Given the description of an element on the screen output the (x, y) to click on. 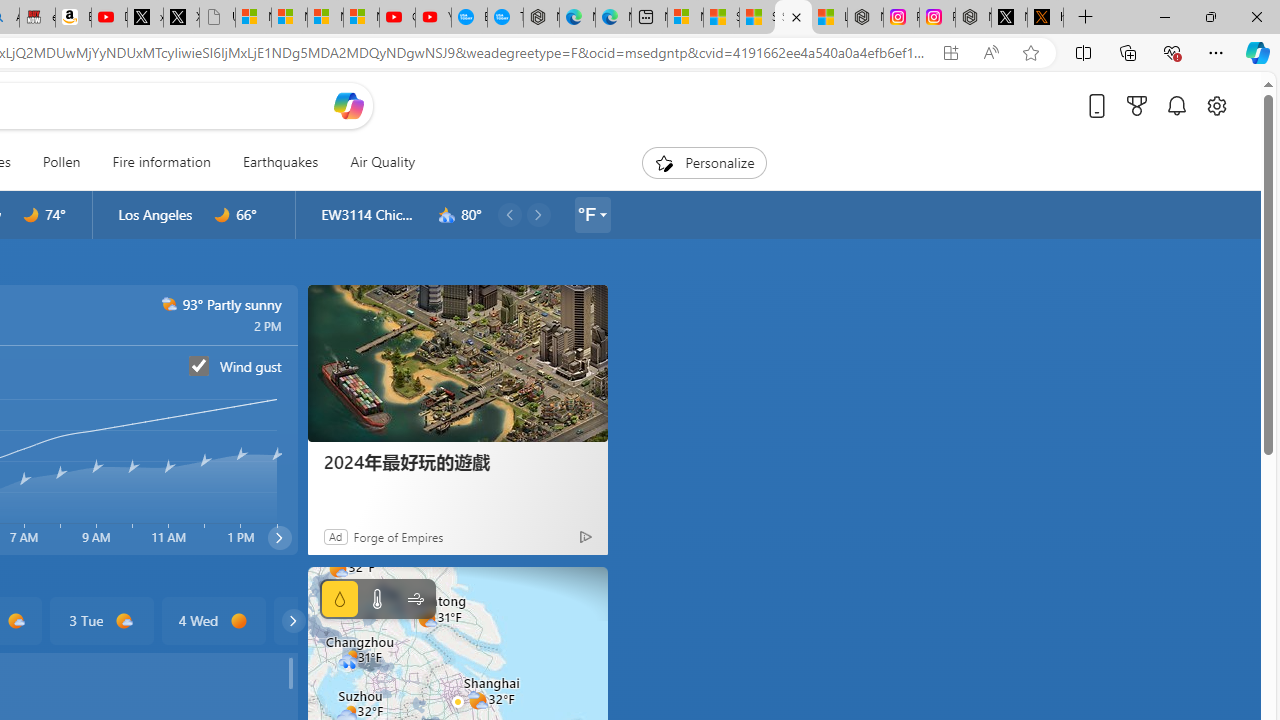
The most popular Google 'how to' searches (505, 17)
Pollen (61, 162)
5 Thu d1000 (324, 620)
Fire information (161, 162)
Gloom - YouTube (397, 17)
locationBar/triangle (602, 214)
n0000 (221, 215)
